Given the description of an element on the screen output the (x, y) to click on. 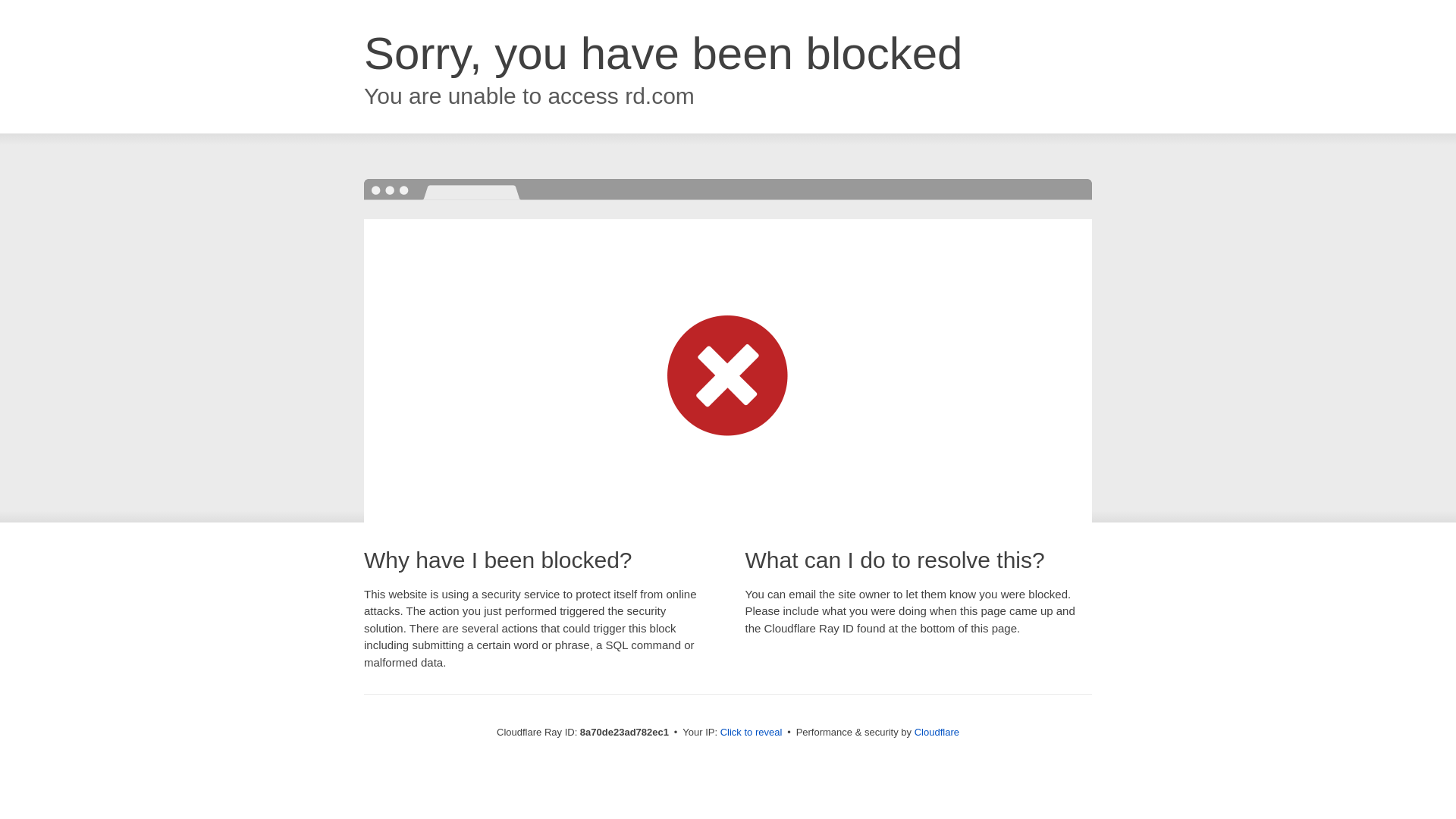
Cloudflare (936, 731)
Click to reveal (751, 732)
